Given the description of an element on the screen output the (x, y) to click on. 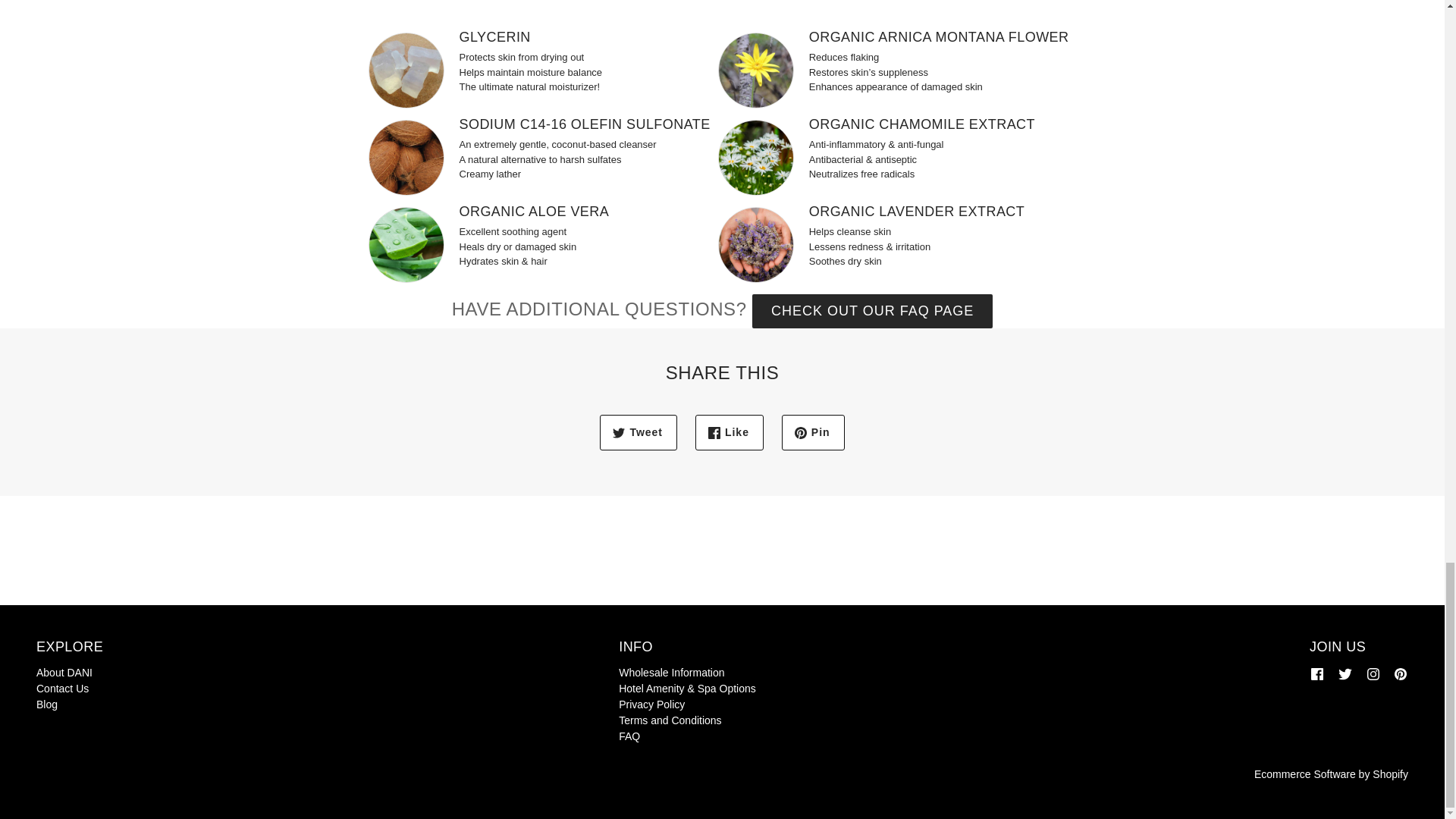
FAQ (629, 736)
Blog (47, 704)
About DANI (64, 672)
Privacy Policy (651, 704)
Contact Us (62, 688)
Wholesale Information (670, 672)
Terms and Conditions (669, 720)
